Given the description of an element on the screen output the (x, y) to click on. 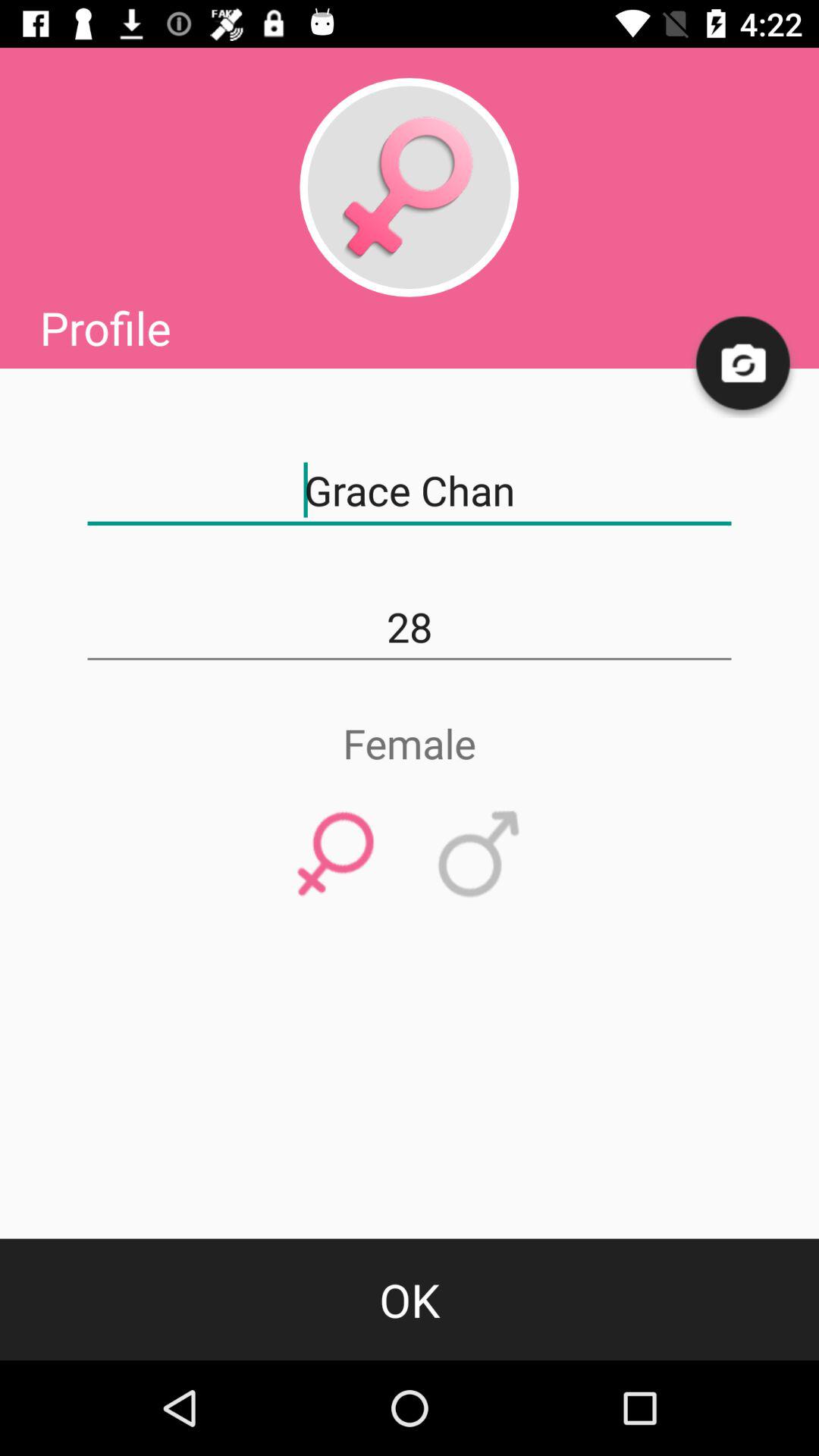
change from front to back camera (744, 364)
